Given the description of an element on the screen output the (x, y) to click on. 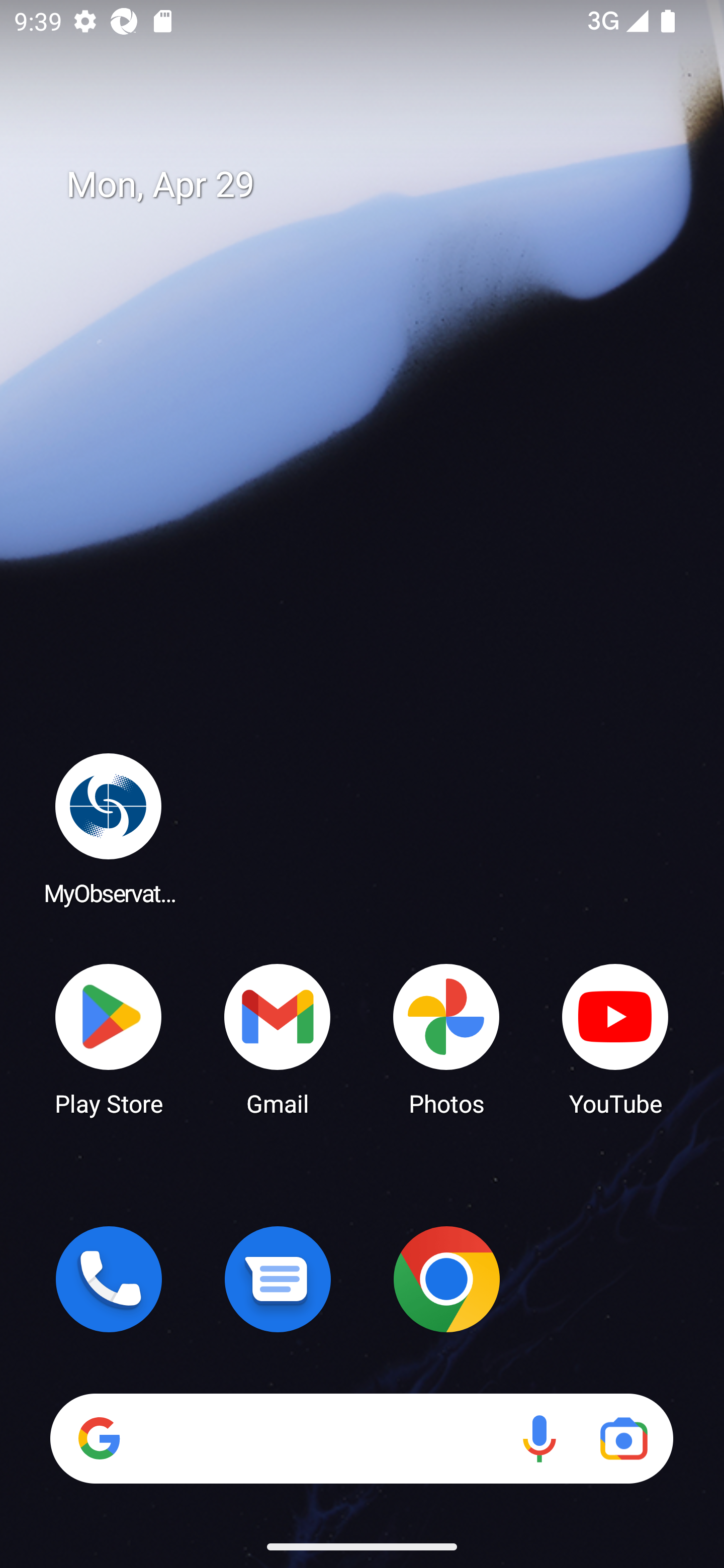
Mon, Apr 29 (375, 184)
MyObservatory (108, 828)
Play Store (108, 1038)
Gmail (277, 1038)
Photos (445, 1038)
YouTube (615, 1038)
Phone (108, 1279)
Messages (277, 1279)
Chrome (446, 1279)
Voice search (539, 1438)
Google Lens (623, 1438)
